Given the description of an element on the screen output the (x, y) to click on. 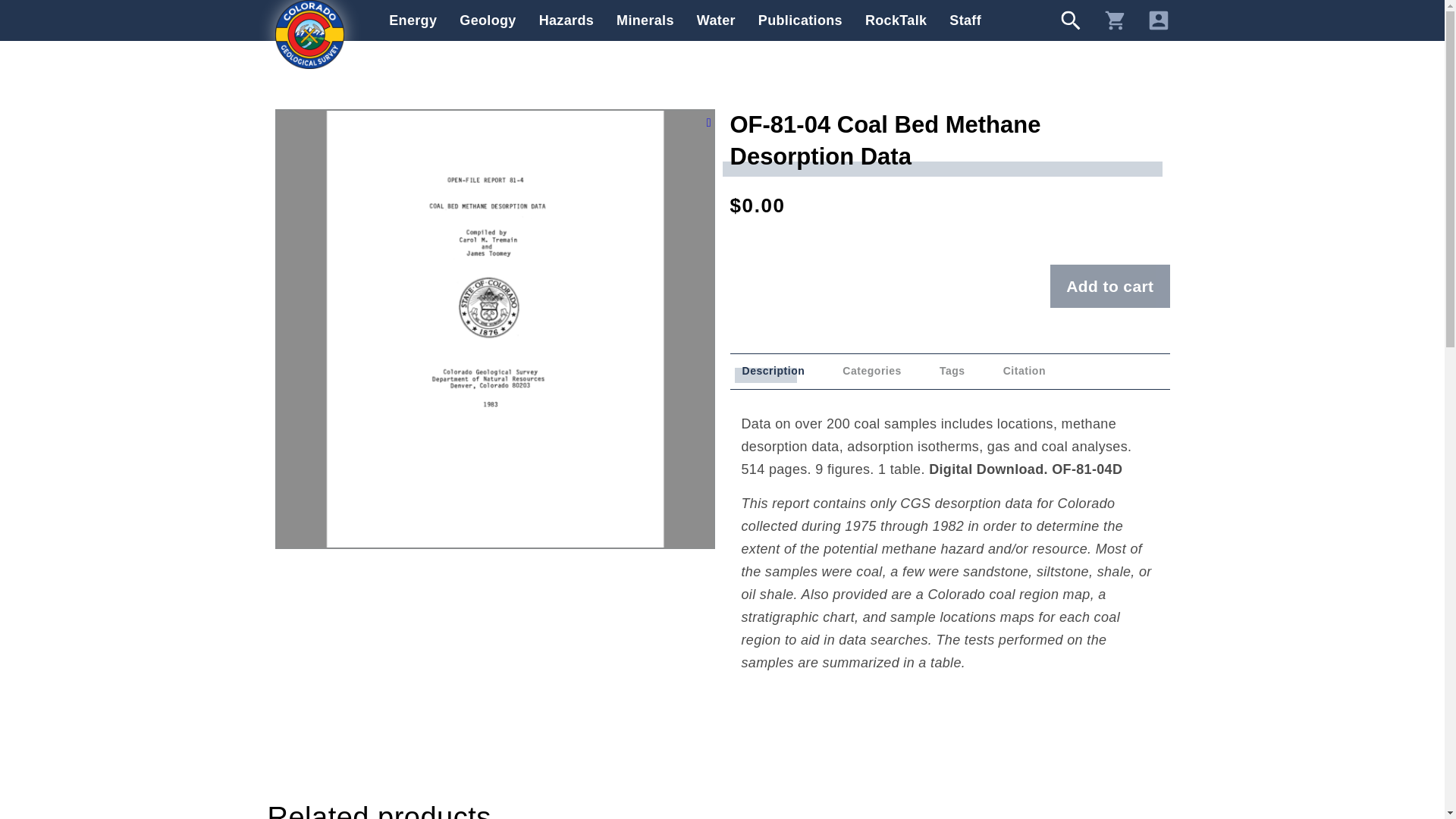
Geology (487, 20)
Hazards (566, 20)
Energy (412, 20)
